Given the description of an element on the screen output the (x, y) to click on. 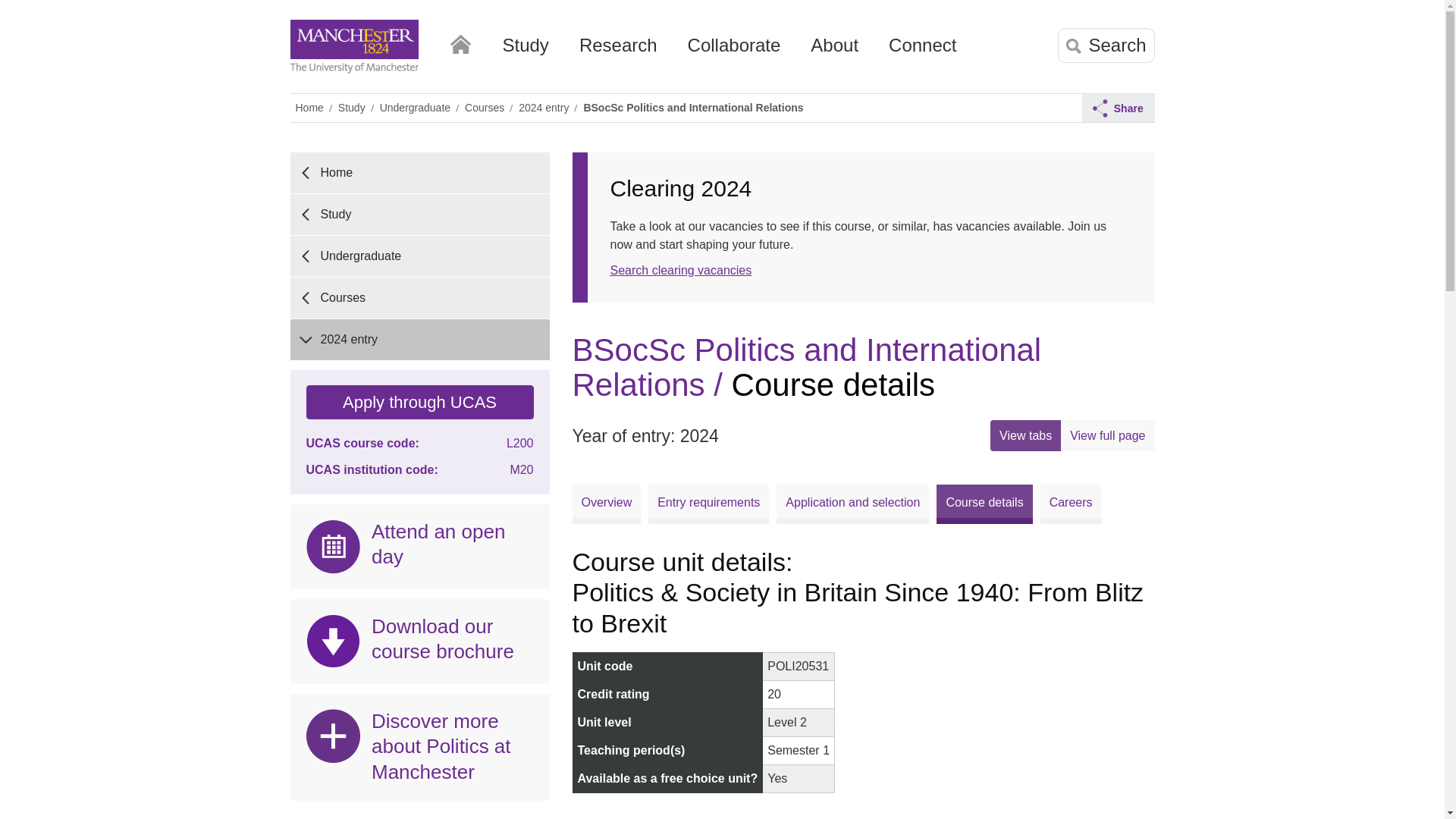
Research at the University (618, 50)
Study (524, 50)
Home (459, 41)
